Given the description of an element on the screen output the (x, y) to click on. 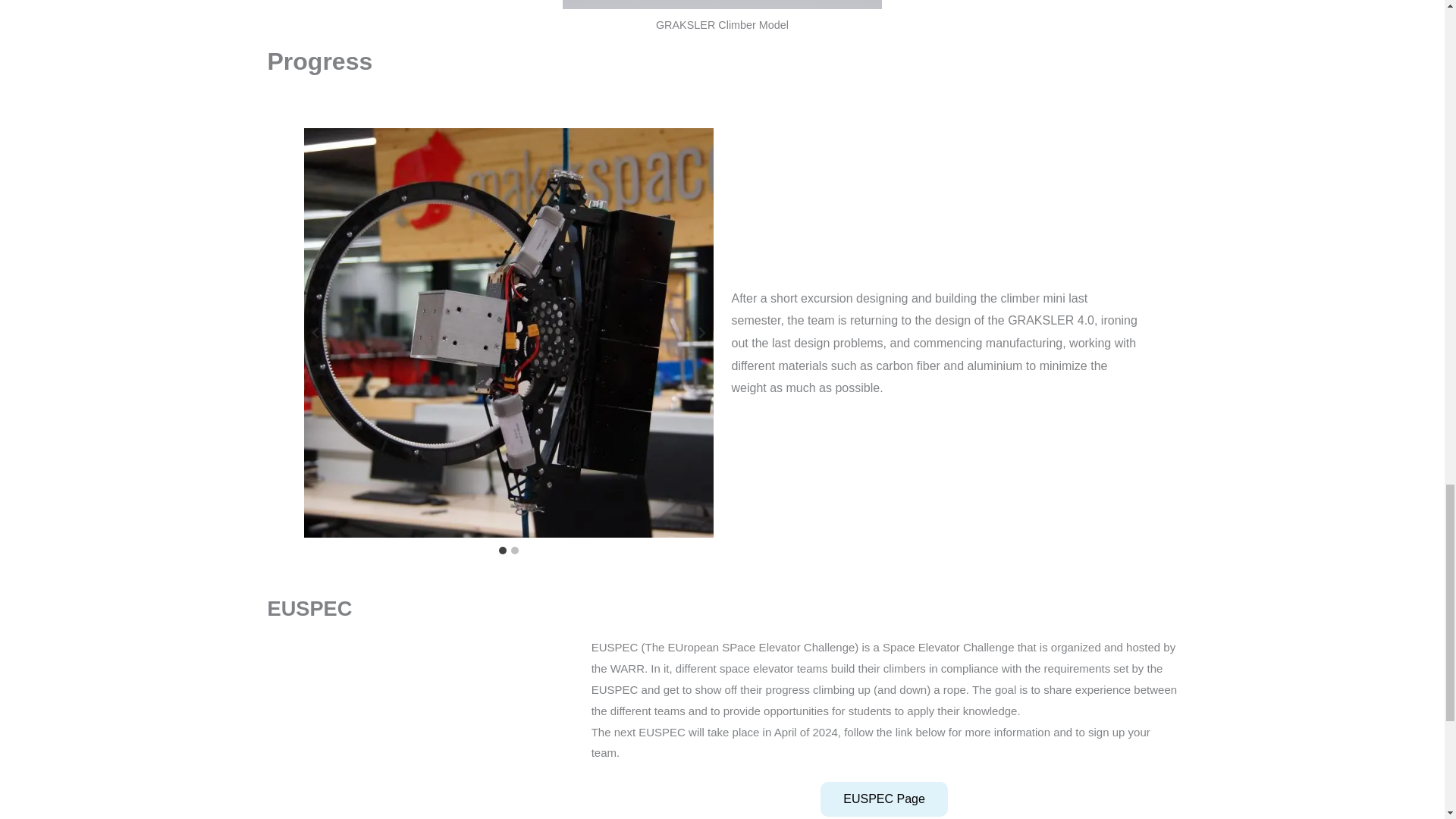
EUSPEC Page (884, 799)
